Given the description of an element on the screen output the (x, y) to click on. 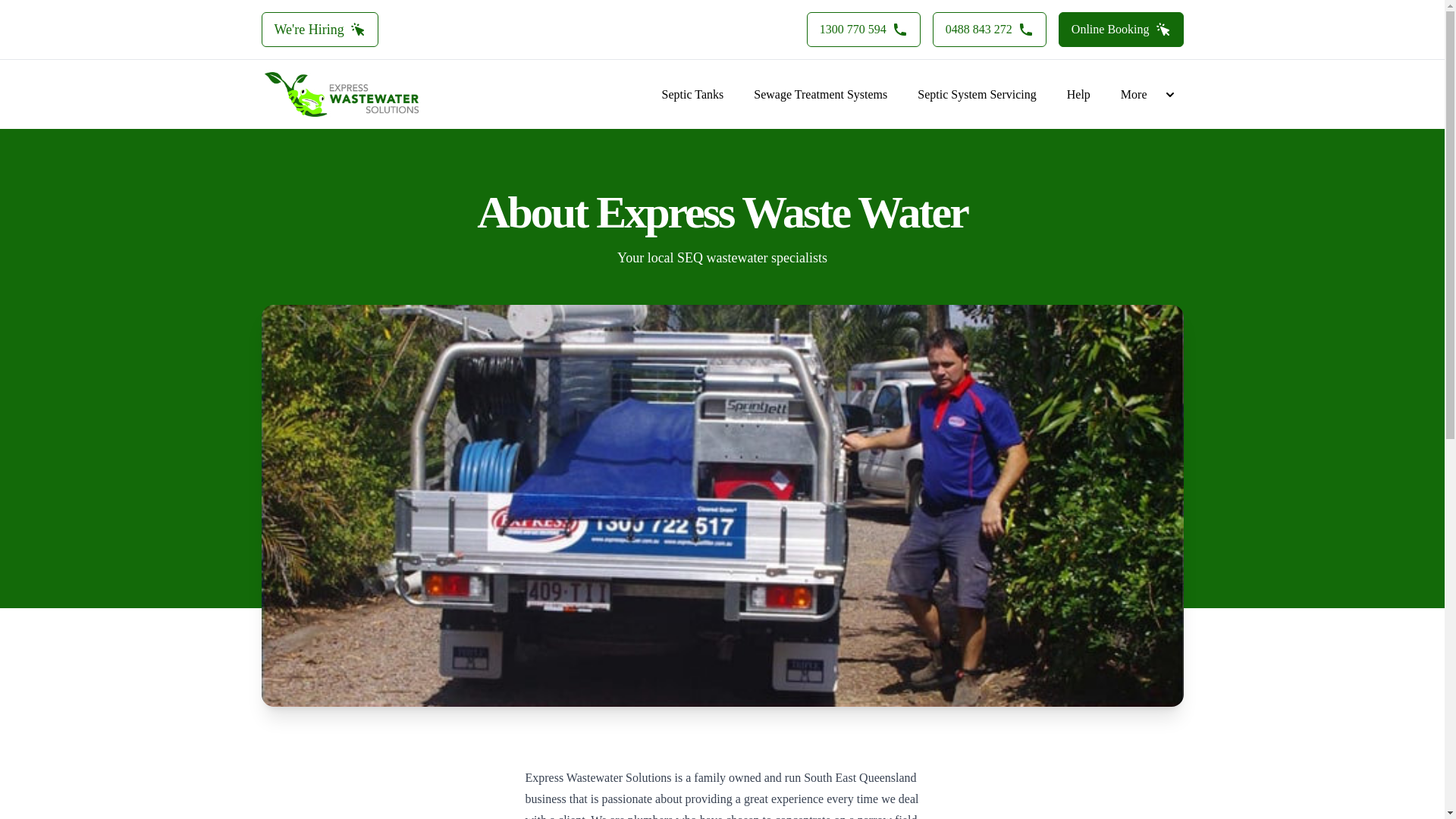
Online Booking (1120, 29)
Wastewater Information (1078, 94)
Sewage Treatment Systems South East Queensland (820, 94)
We're Hiring (318, 29)
Careers Express Wastewater (318, 29)
Call Express Wastewater (863, 29)
Septic Tank Systems South East Queensland (692, 94)
Express Waste Water Home (340, 93)
Call Express Wastewater (989, 29)
Septic System Servicing South East Queensland (976, 94)
